Given the description of an element on the screen output the (x, y) to click on. 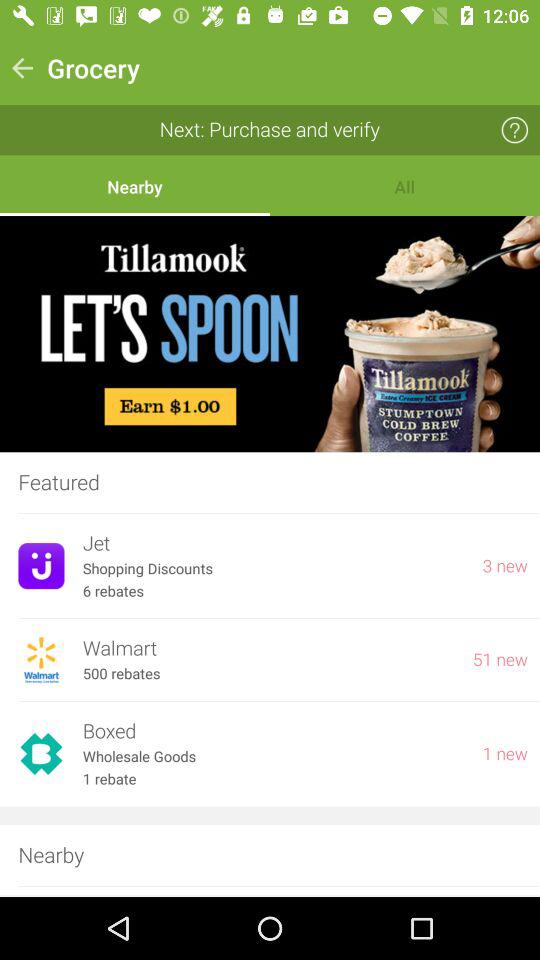
open the icon below the nearby (270, 333)
